Given the description of an element on the screen output the (x, y) to click on. 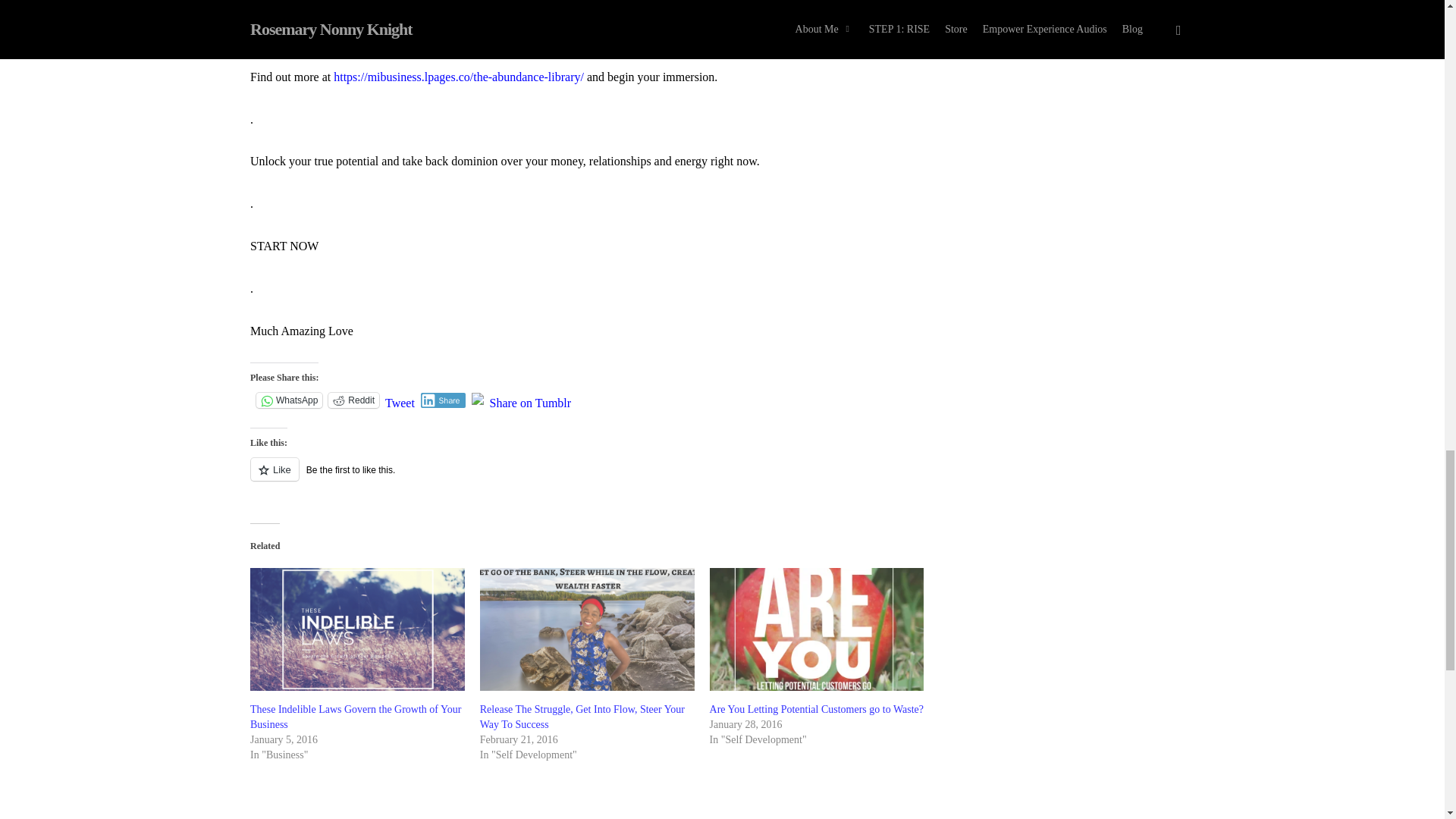
Share on Tumblr (530, 399)
Like or Reblog (590, 477)
Are You Letting Potential Customers go to Waste? (816, 708)
Tweet (399, 399)
Share on Tumblr (530, 399)
Are You Letting Potential Customers go to Waste? (816, 708)
Are You Letting Potential Customers go to Waste? (817, 629)
These Indelible Laws Govern the Growth of Your Business (355, 716)
These Indelible Laws Govern the Growth of Your Business (357, 629)
These Indelible Laws Govern the Growth of Your Business (355, 716)
Reddit (353, 400)
WhatsApp (288, 400)
Click to share on Reddit (353, 400)
